Given the description of an element on the screen output the (x, y) to click on. 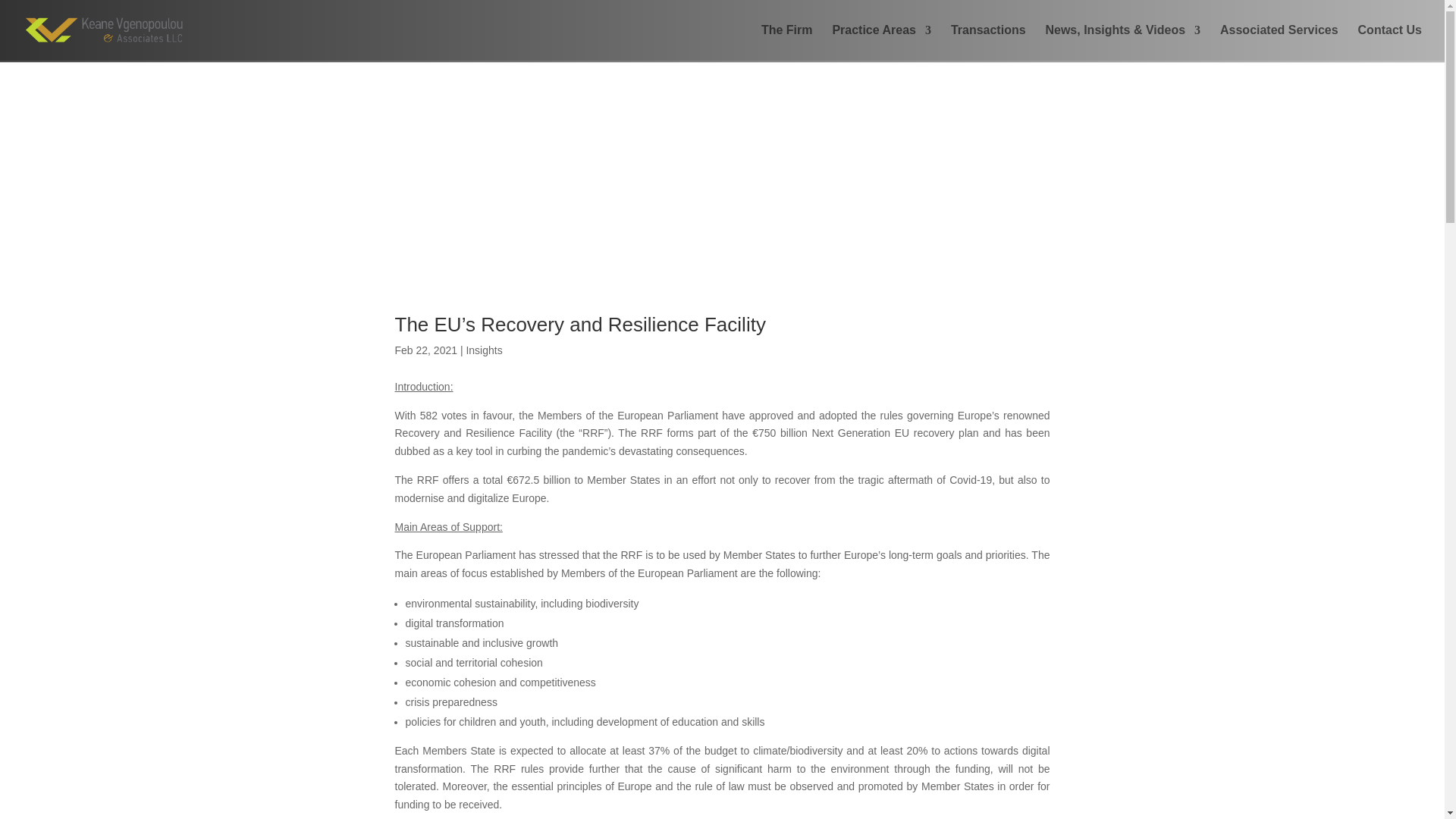
The Firm (786, 42)
Associated Services (1279, 42)
Contact Us (1390, 42)
Insights (483, 349)
Transactions (988, 42)
Practice Areas (881, 42)
